Given the description of an element on the screen output the (x, y) to click on. 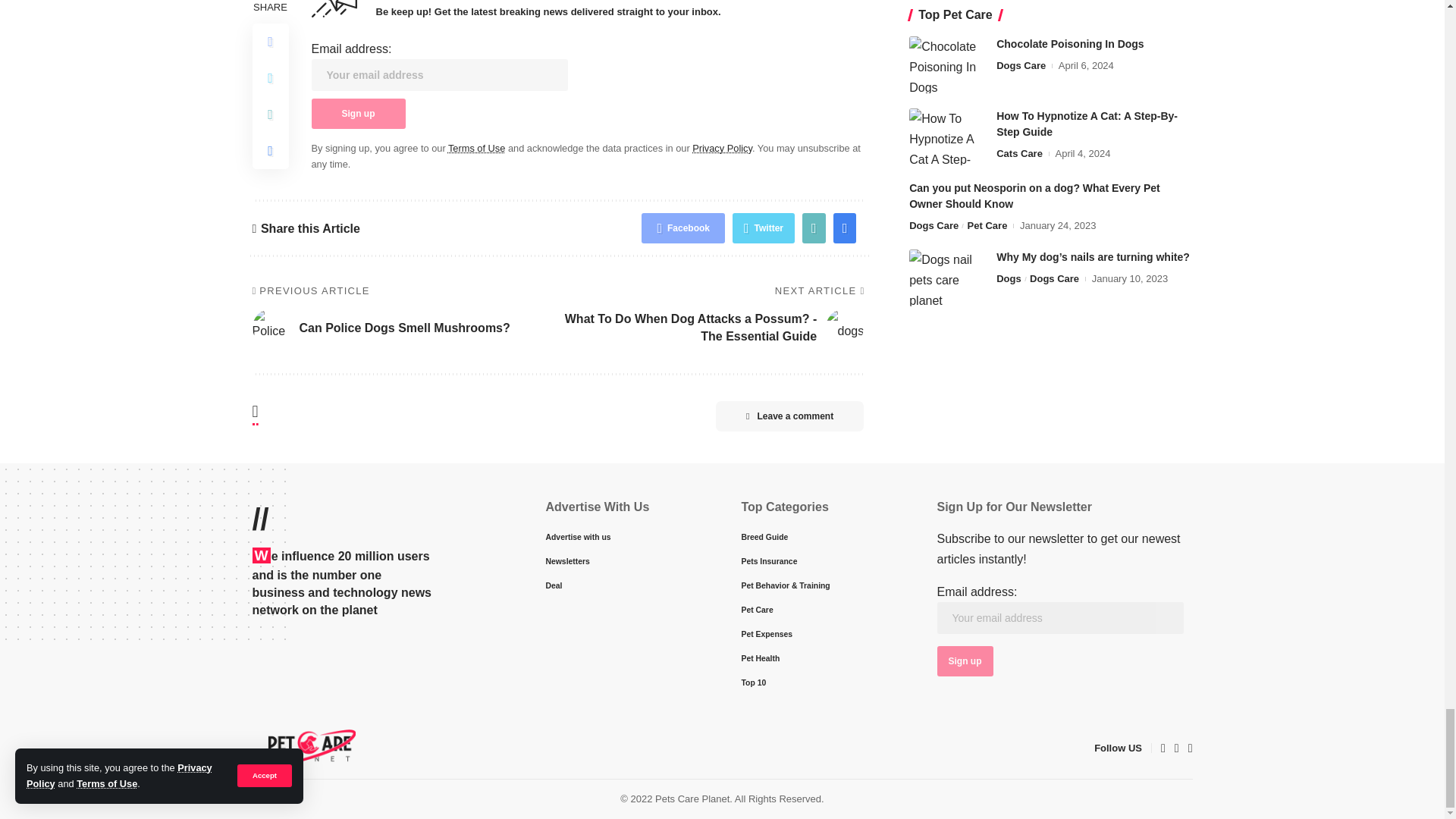
Sign up (964, 661)
Pets Care Planet (303, 748)
Sign up (357, 113)
